Given the description of an element on the screen output the (x, y) to click on. 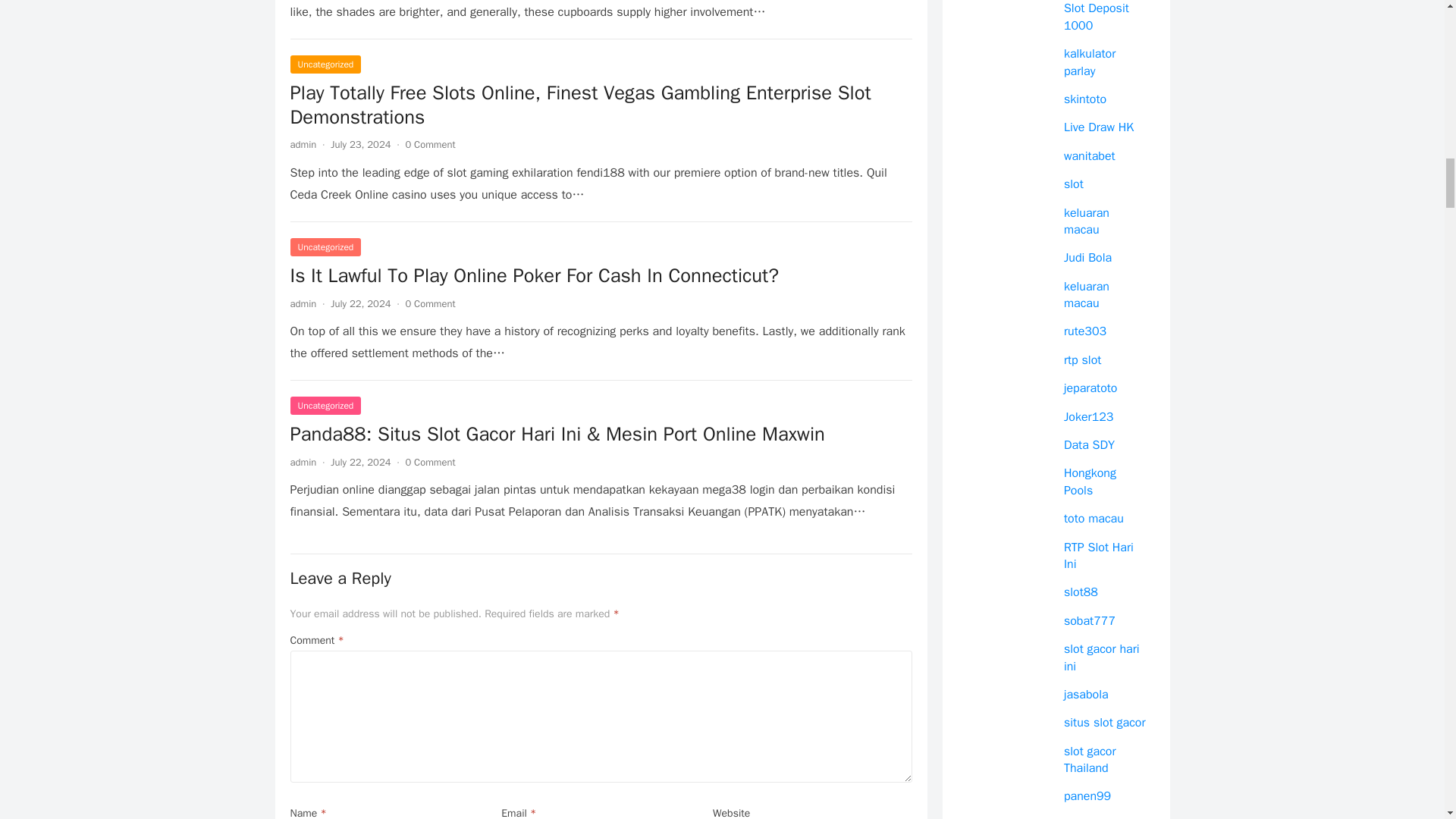
Posts by admin (302, 144)
0 Comment (429, 144)
admin (302, 461)
Posts by admin (302, 303)
admin (302, 303)
Posts by admin (302, 461)
Uncategorized (325, 247)
admin (302, 144)
Uncategorized (325, 64)
Is It Lawful To Play Online Poker For Cash In Connecticut? (600, 275)
Uncategorized (325, 405)
0 Comment (429, 461)
0 Comment (429, 303)
